Given the description of an element on the screen output the (x, y) to click on. 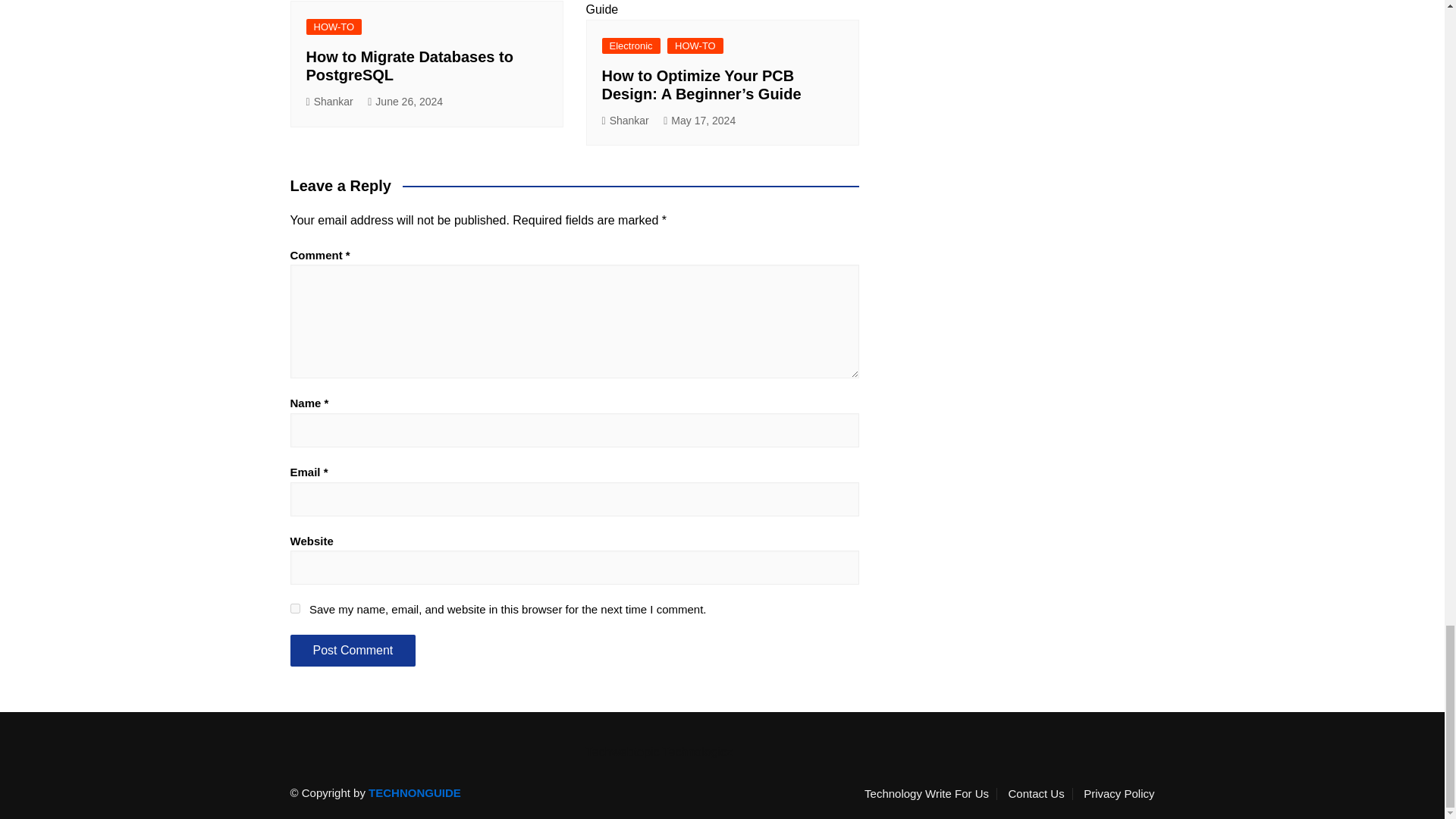
yes (294, 608)
Post Comment (351, 650)
